Given the description of an element on the screen output the (x, y) to click on. 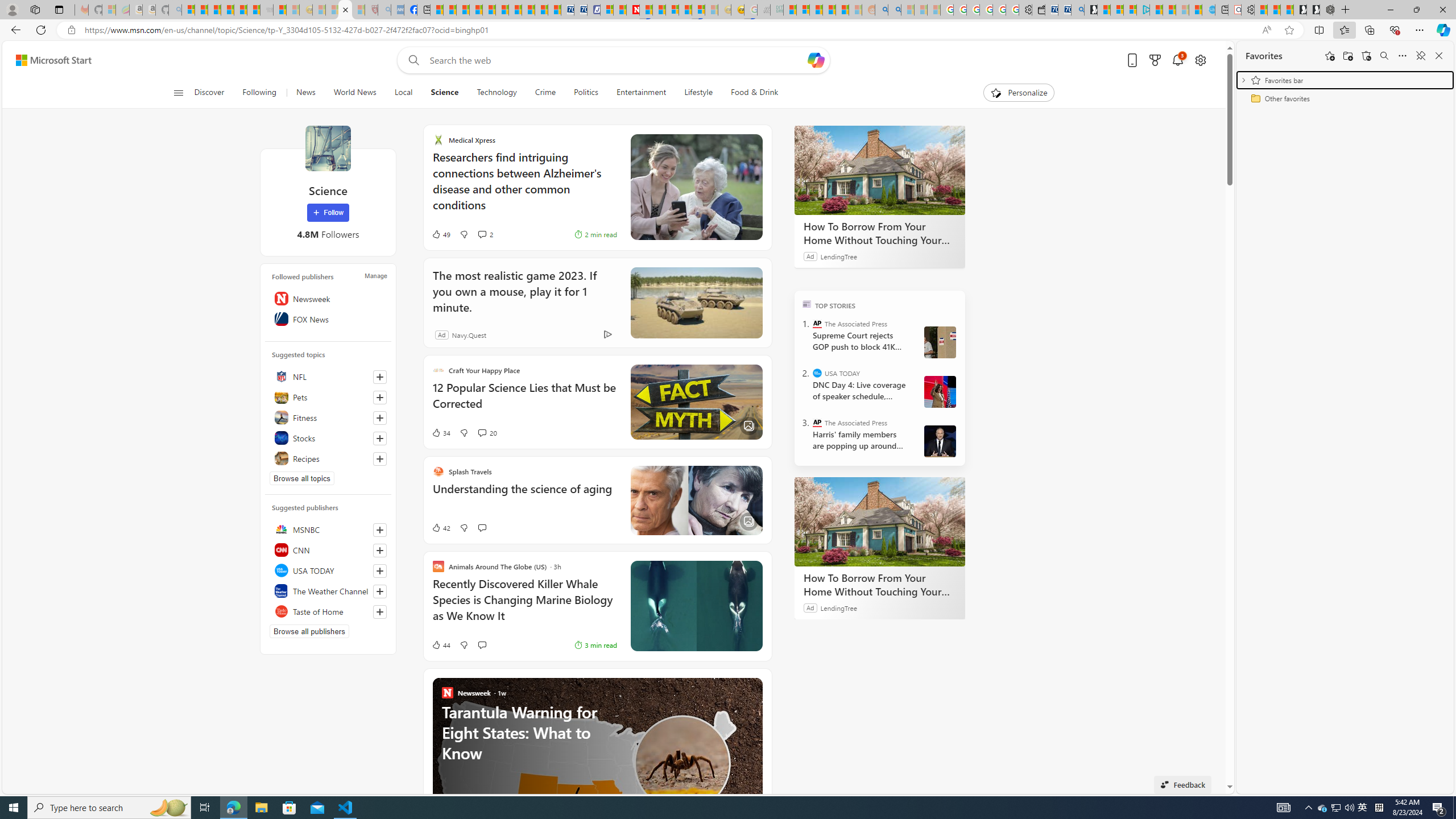
Microsoft Start - Sleeping (1181, 9)
Add folder (1347, 55)
Climate Damage Becomes Too Severe To Reverse (475, 9)
